Given the description of an element on the screen output the (x, y) to click on. 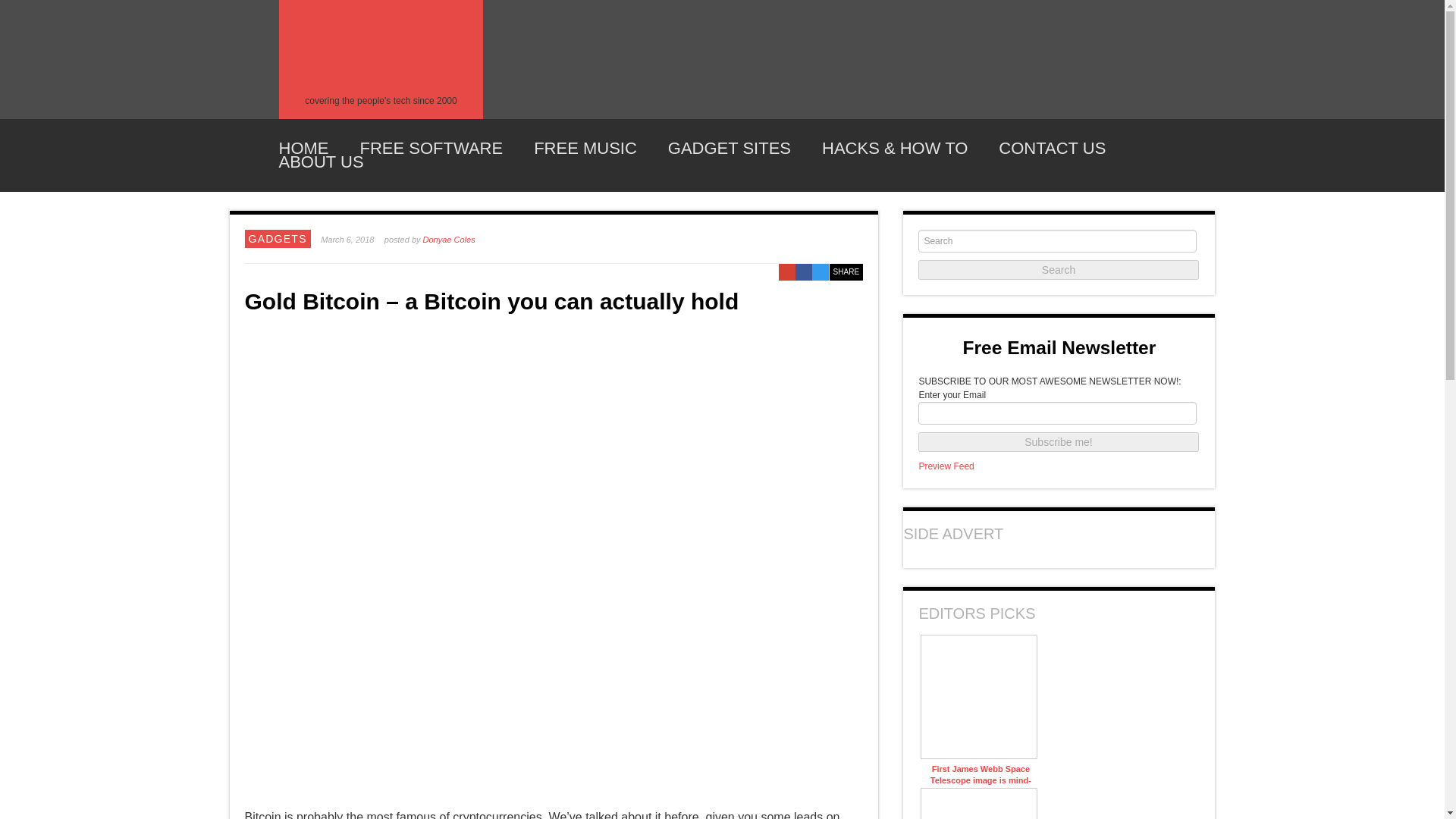
GADGET SITES (729, 148)
FREE MUSIC (585, 148)
FREE SOFTWARE (430, 148)
Search (1058, 270)
CONTACT US (1051, 148)
Preview Feed (946, 466)
Posts by Donyae Coles (449, 239)
ABOUT US (321, 161)
Subscribe me! (1058, 442)
Subscribe me! (1058, 442)
